Given the description of an element on the screen output the (x, y) to click on. 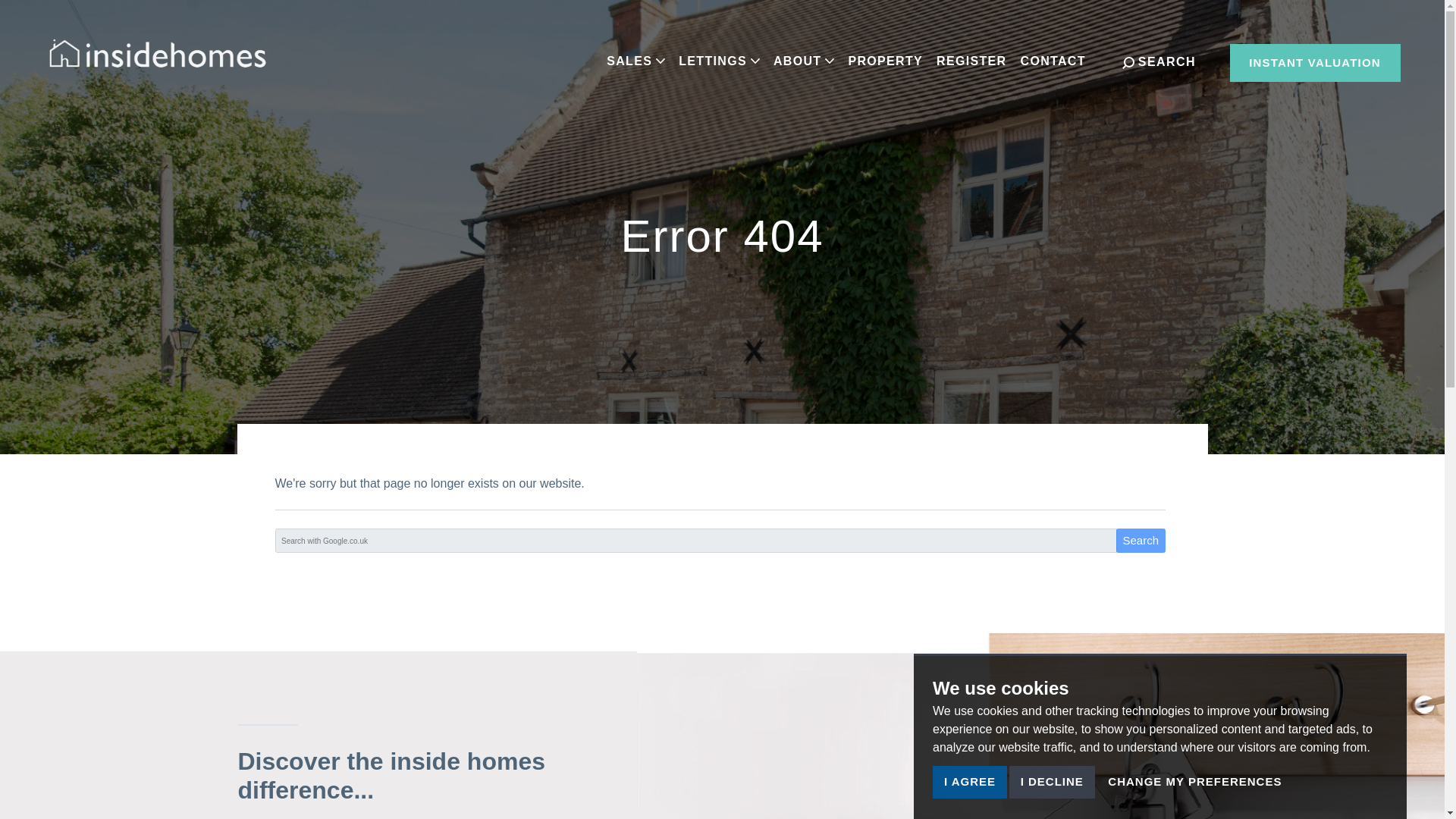
INSTANT VALUATION (1315, 62)
REGISTER (971, 61)
PROPERTY (885, 61)
ABOUT (804, 61)
Search (1141, 540)
SALES (635, 61)
LETTINGS (718, 61)
SEARCH (1158, 62)
CONTACT (1052, 61)
